Given the description of an element on the screen output the (x, y) to click on. 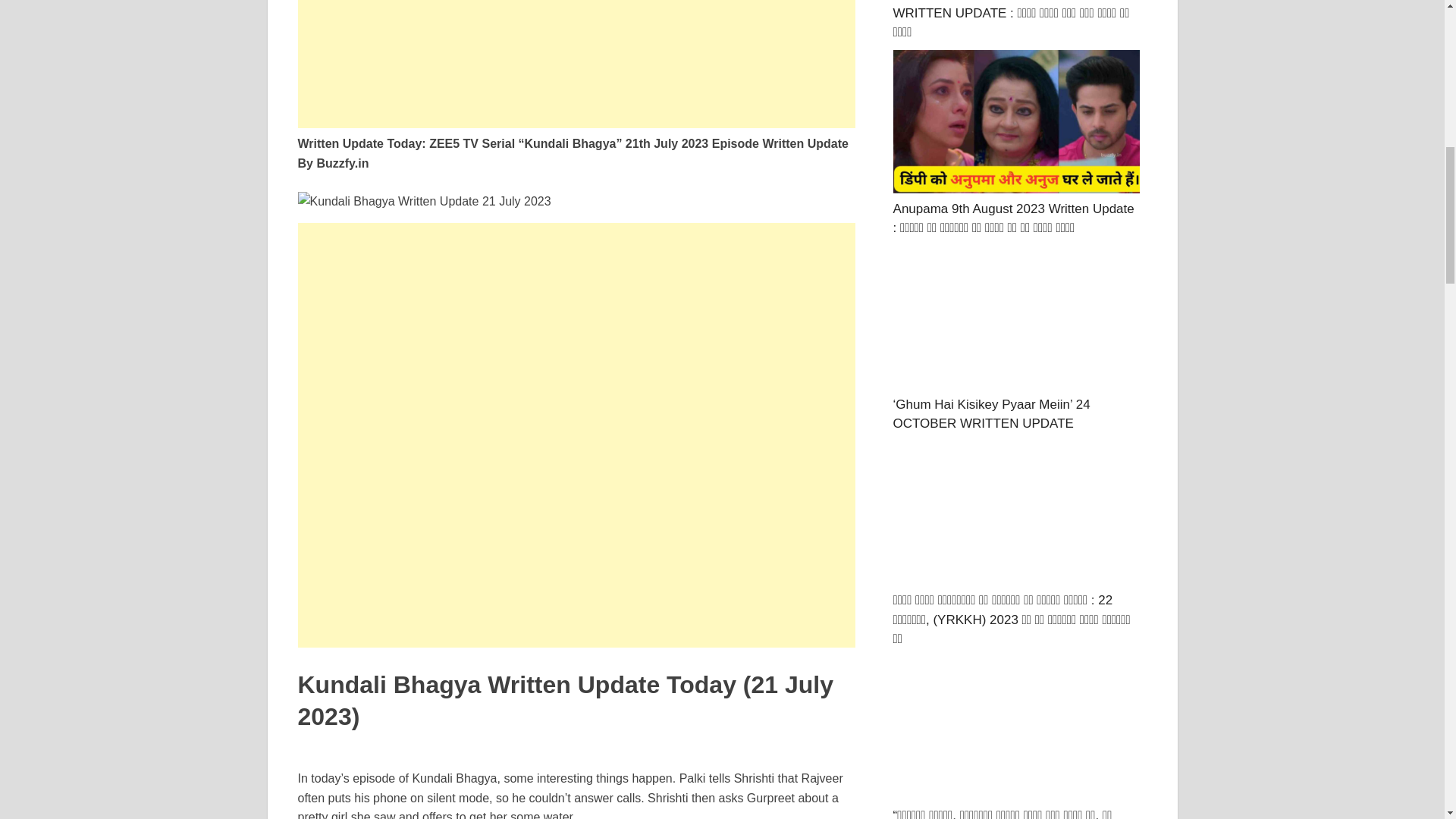
Advertisement (575, 63)
Advertisement (575, 328)
Advertisement (575, 540)
